Given the description of an element on the screen output the (x, y) to click on. 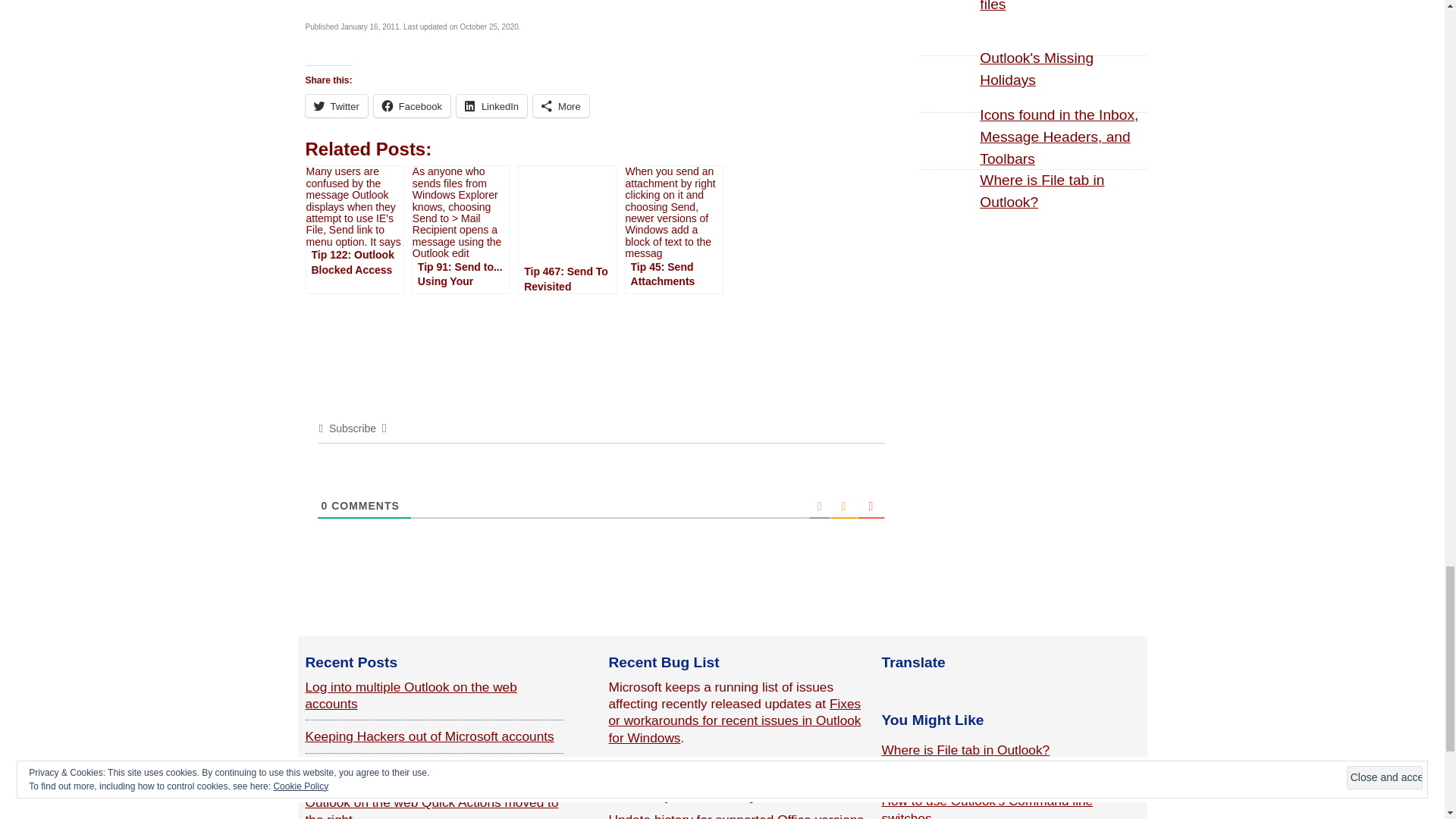
LinkedIn (492, 106)
Click to share on Facebook (411, 106)
Twitter (335, 106)
Facebook (411, 106)
Click to share on Twitter (335, 106)
More (560, 106)
Tip 467: Send To Revisited (566, 229)
Click to share on LinkedIn (492, 106)
